Given the description of an element on the screen output the (x, y) to click on. 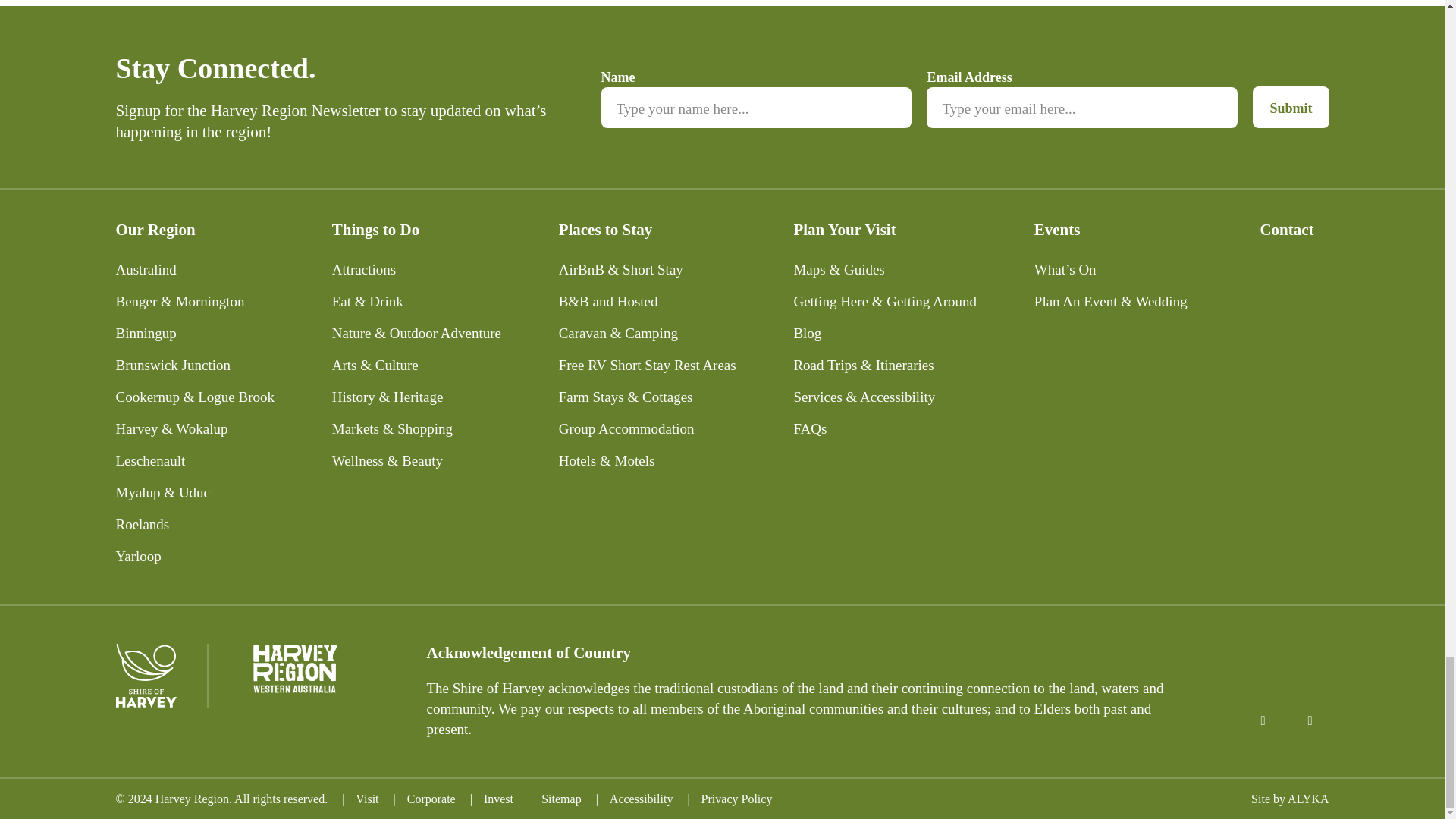
Submit (1289, 106)
